Given the description of an element on the screen output the (x, y) to click on. 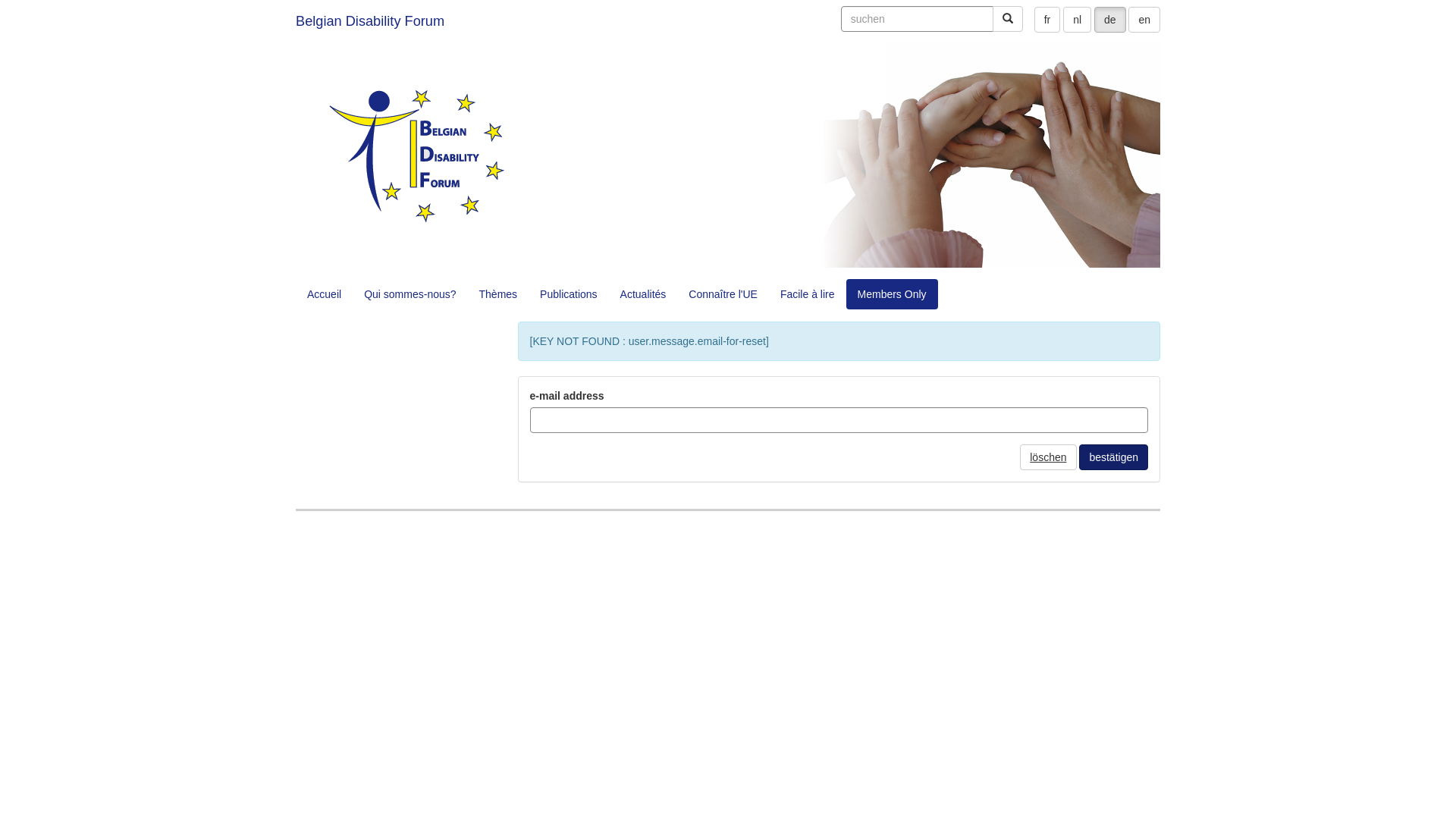
fr Element type: text (1047, 19)
Qui sommes-nous? Element type: text (409, 294)
Belgian Disability Forum Element type: text (369, 20)
Publications Element type: text (568, 294)
Accueil Element type: text (323, 294)
suchen Element type: text (1007, 18)
suchen Element type: hover (916, 18)
nl Element type: text (1077, 19)
Members Only Element type: text (892, 294)
en Element type: text (1144, 19)
de Element type: text (1110, 19)
